Given the description of an element on the screen output the (x, y) to click on. 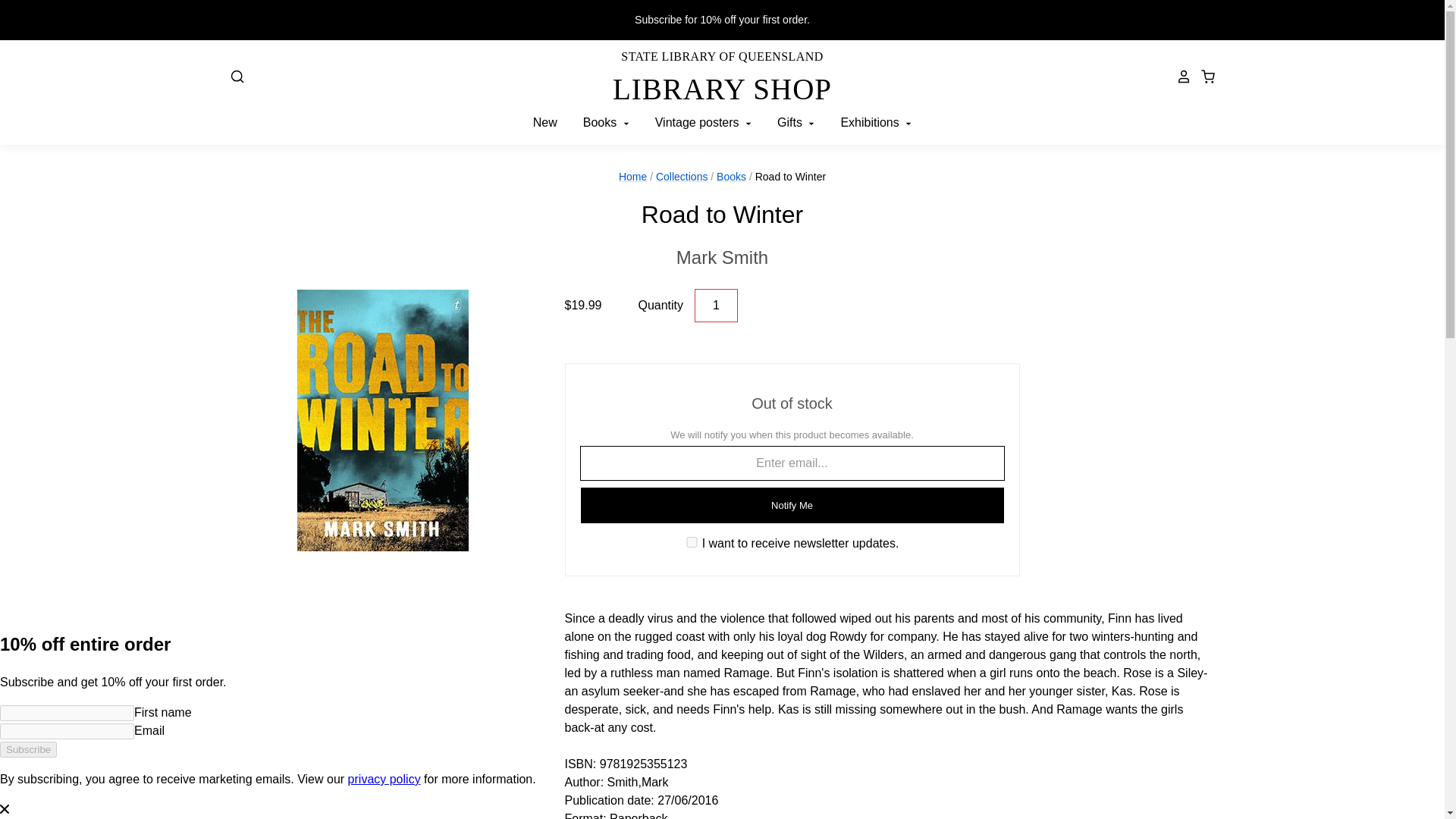
1 (715, 305)
on (722, 257)
